Given the description of an element on the screen output the (x, y) to click on. 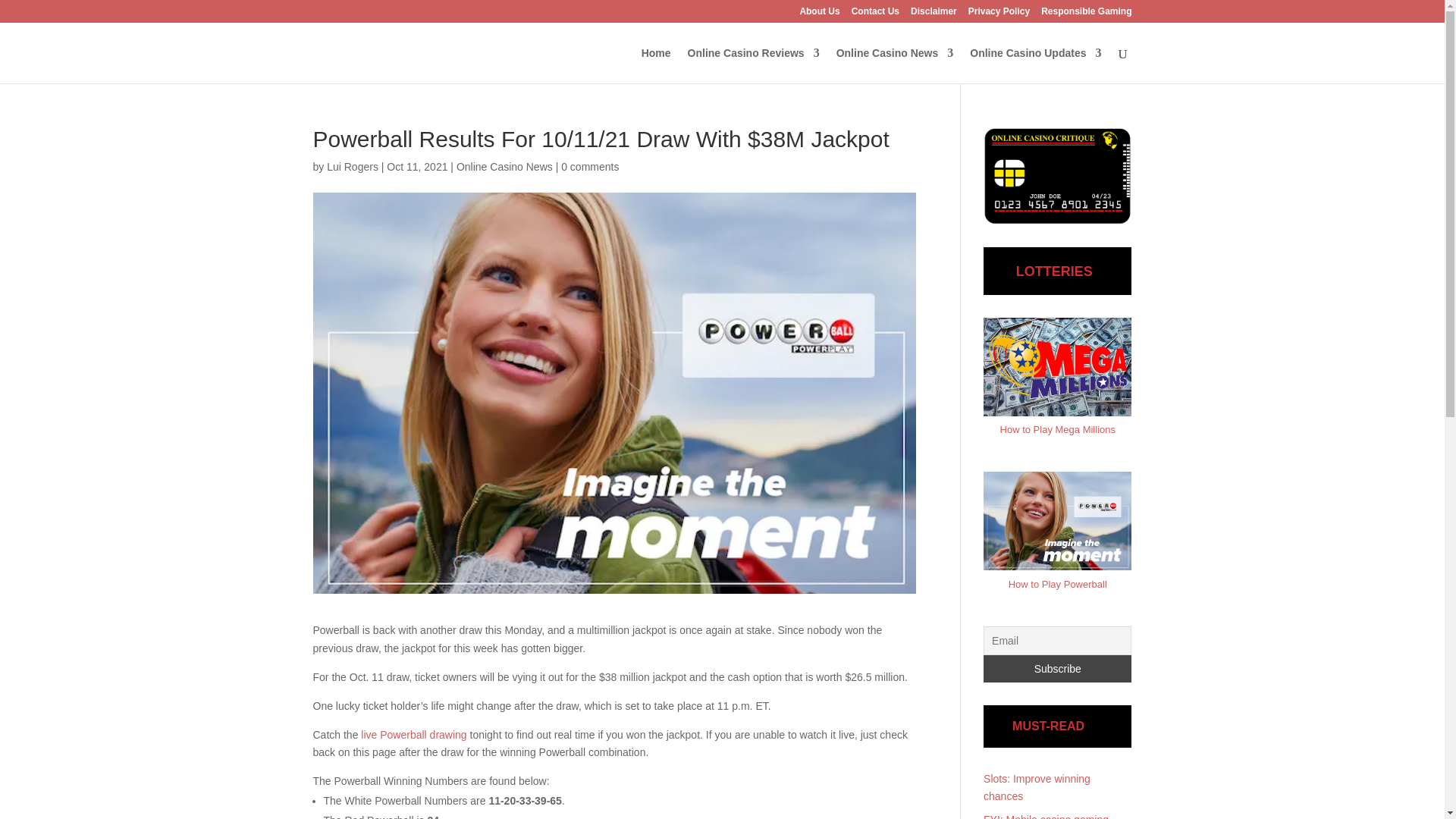
Posts by Lui Rogers (352, 166)
About Us (819, 14)
Online Casino News (894, 65)
Online Casino Updates (1034, 65)
Privacy Policy (998, 14)
Disclaimer (933, 14)
Responsible Gaming (1086, 14)
Online Casino Reviews (753, 65)
Contact Us (875, 14)
Subscribe (1057, 668)
